Given the description of an element on the screen output the (x, y) to click on. 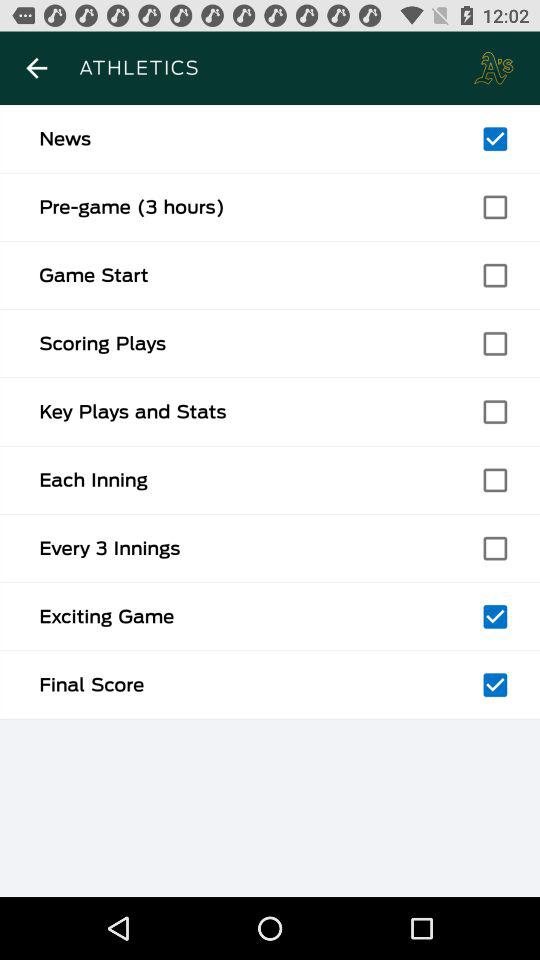
select any one (495, 616)
